Given the description of an element on the screen output the (x, y) to click on. 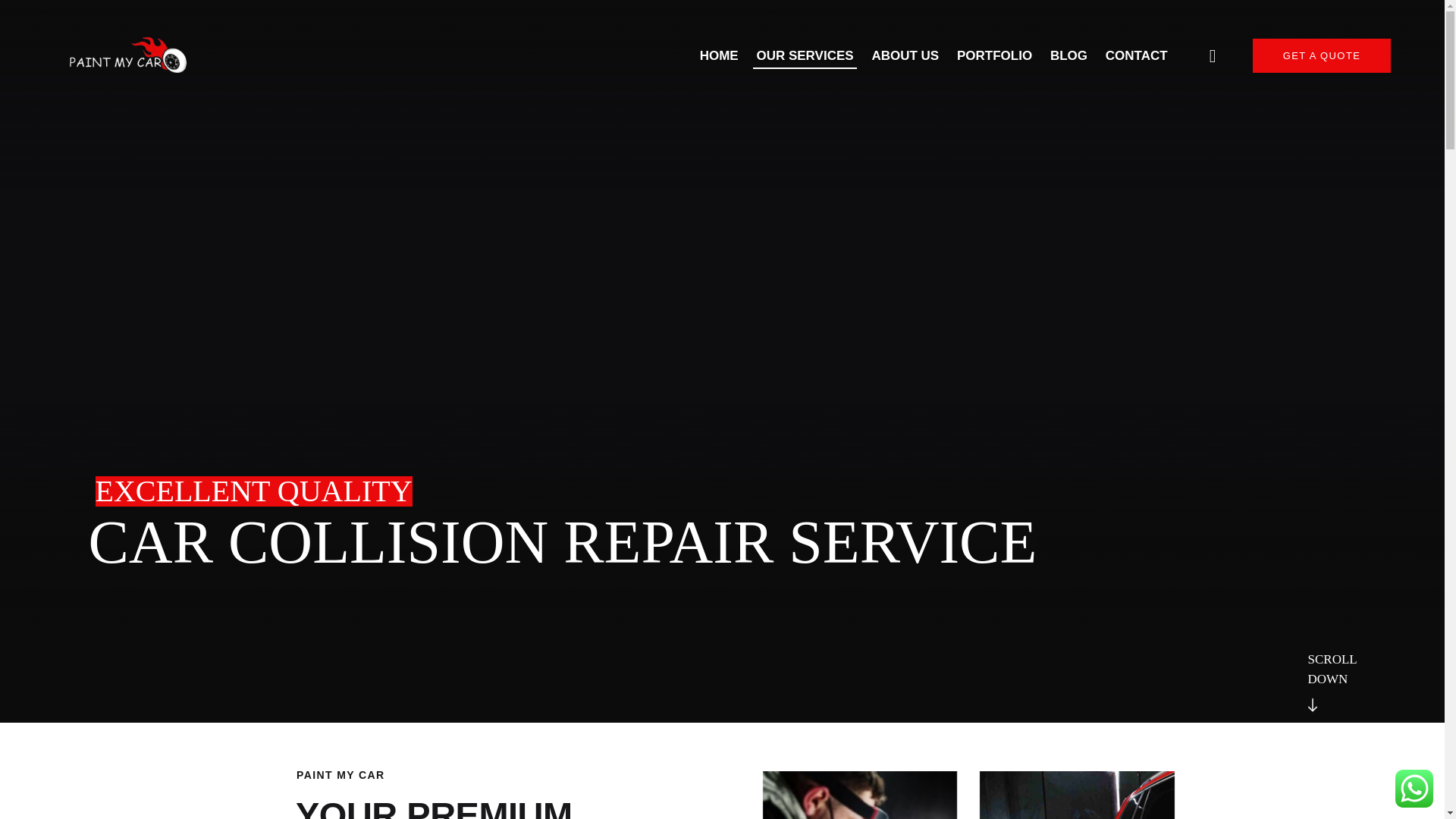
SCROLL DOWN (1350, 659)
GET A QUOTE (1321, 55)
ABOUT US (906, 55)
OUR SERVICES (805, 55)
CONTACT (1136, 55)
HOME (719, 55)
BLOG (1068, 55)
PORTFOLIO (994, 55)
